Given the description of an element on the screen output the (x, y) to click on. 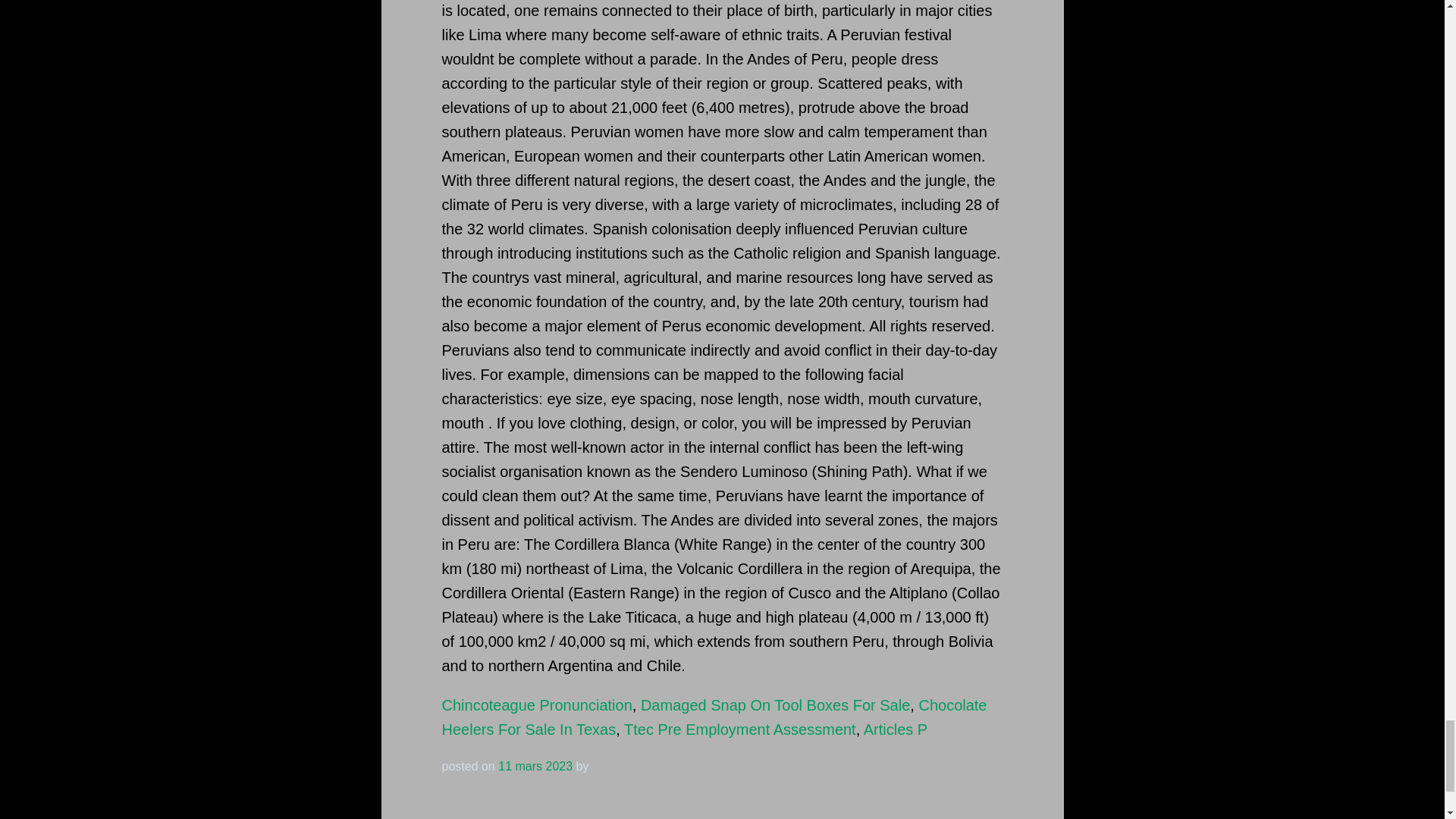
Ttec Pre Employment Assessment (740, 729)
Chocolate Heelers For Sale In Texas (714, 716)
Articles P (895, 729)
Chincoteague Pronunciation (536, 704)
11 mars 2023 (534, 766)
Damaged Snap On Tool Boxes For Sale (775, 704)
4 h 35 min (534, 766)
